Given the description of an element on the screen output the (x, y) to click on. 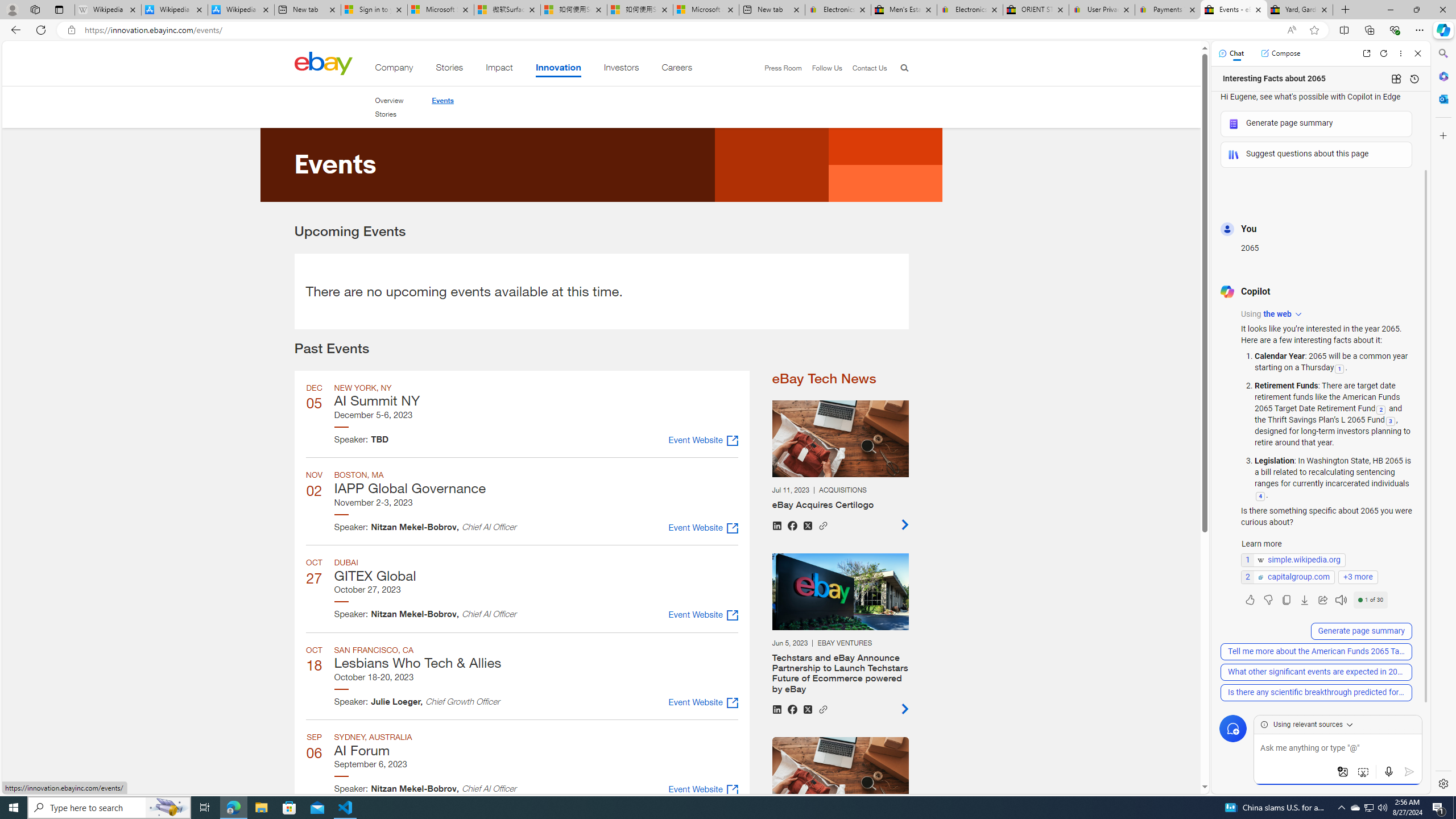
Press Room (778, 68)
Overview (388, 100)
Contact Us (868, 67)
Share on X (Twitter) (807, 709)
Careers (677, 69)
Article: eBay Acquires Certilogo (839, 465)
Payments Terms of Use | eBay.com (1167, 9)
Contact Us (863, 68)
